Given the description of an element on the screen output the (x, y) to click on. 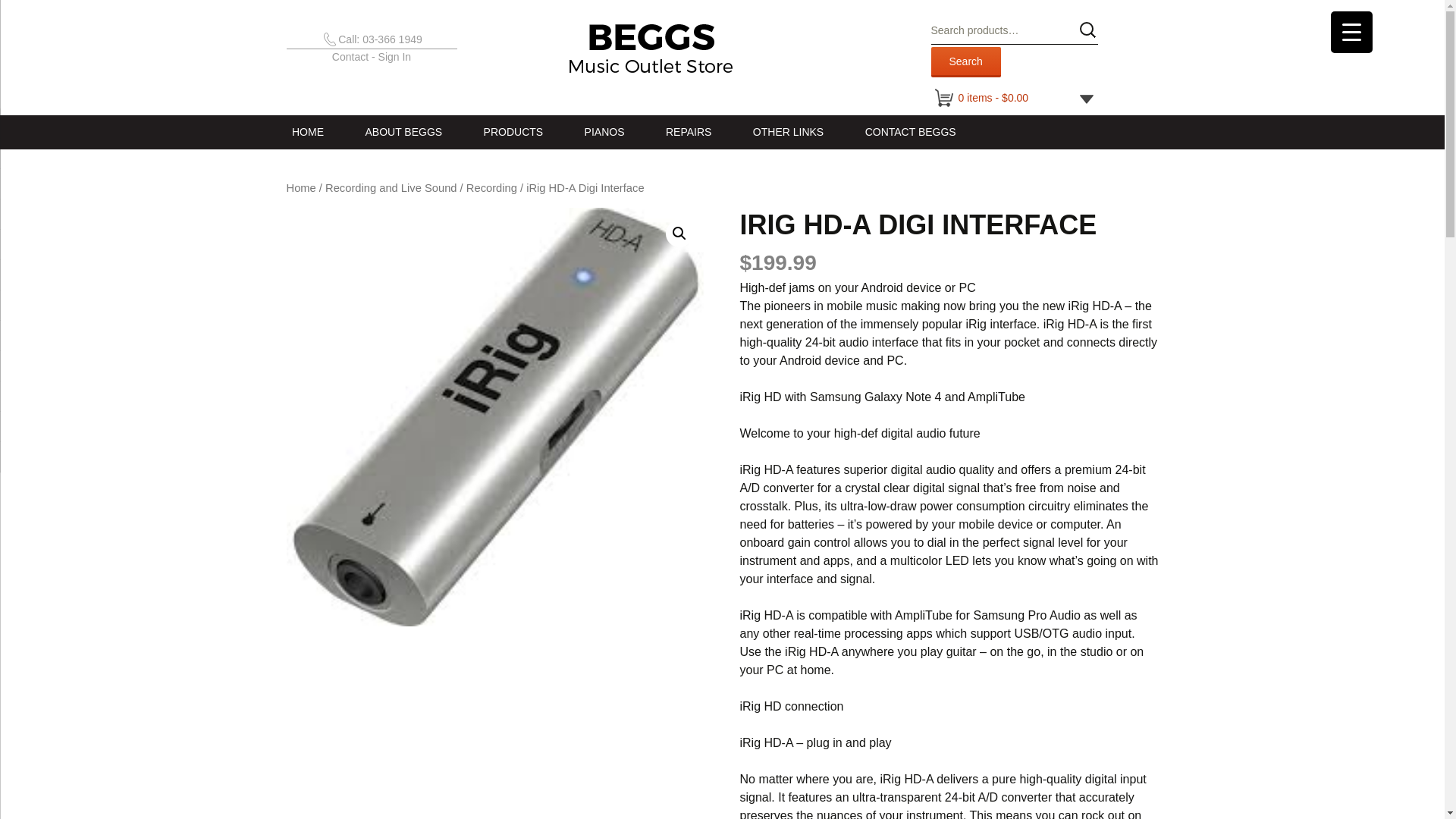
Sign In (395, 56)
ABOUT BEGGS (403, 131)
Search (966, 61)
HOME (307, 131)
BRASS (539, 164)
PRODUCTS (513, 131)
Contact (349, 56)
